Given the description of an element on the screen output the (x, y) to click on. 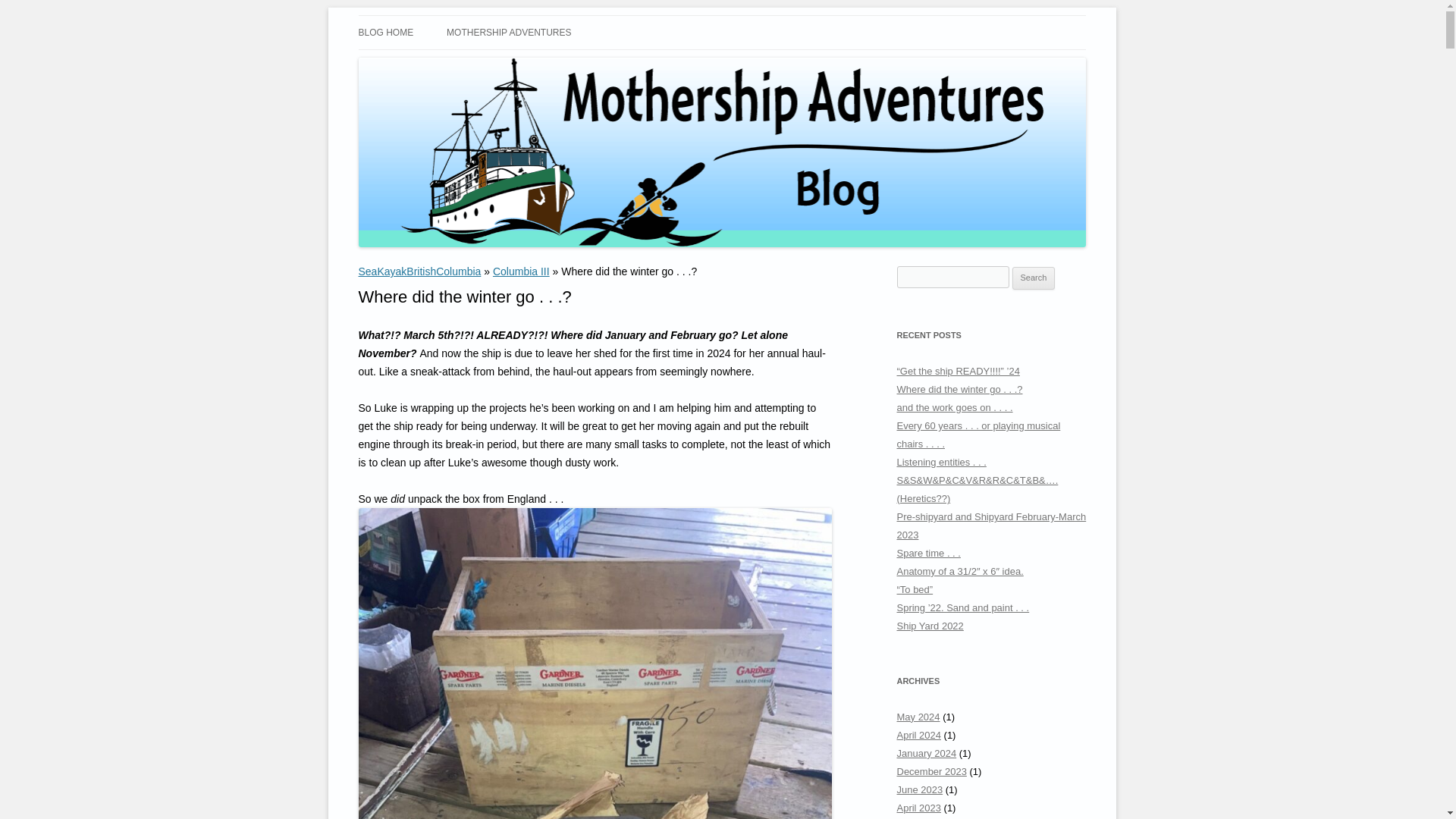
Columbia III (521, 271)
Search (1033, 277)
MOTHERSHIP ADVENTURES (508, 32)
BLOG HOME (385, 32)
Sea Kayaking in British Columbia (514, 33)
SeaKayakBritishColumbia (419, 271)
